Given the description of an element on the screen output the (x, y) to click on. 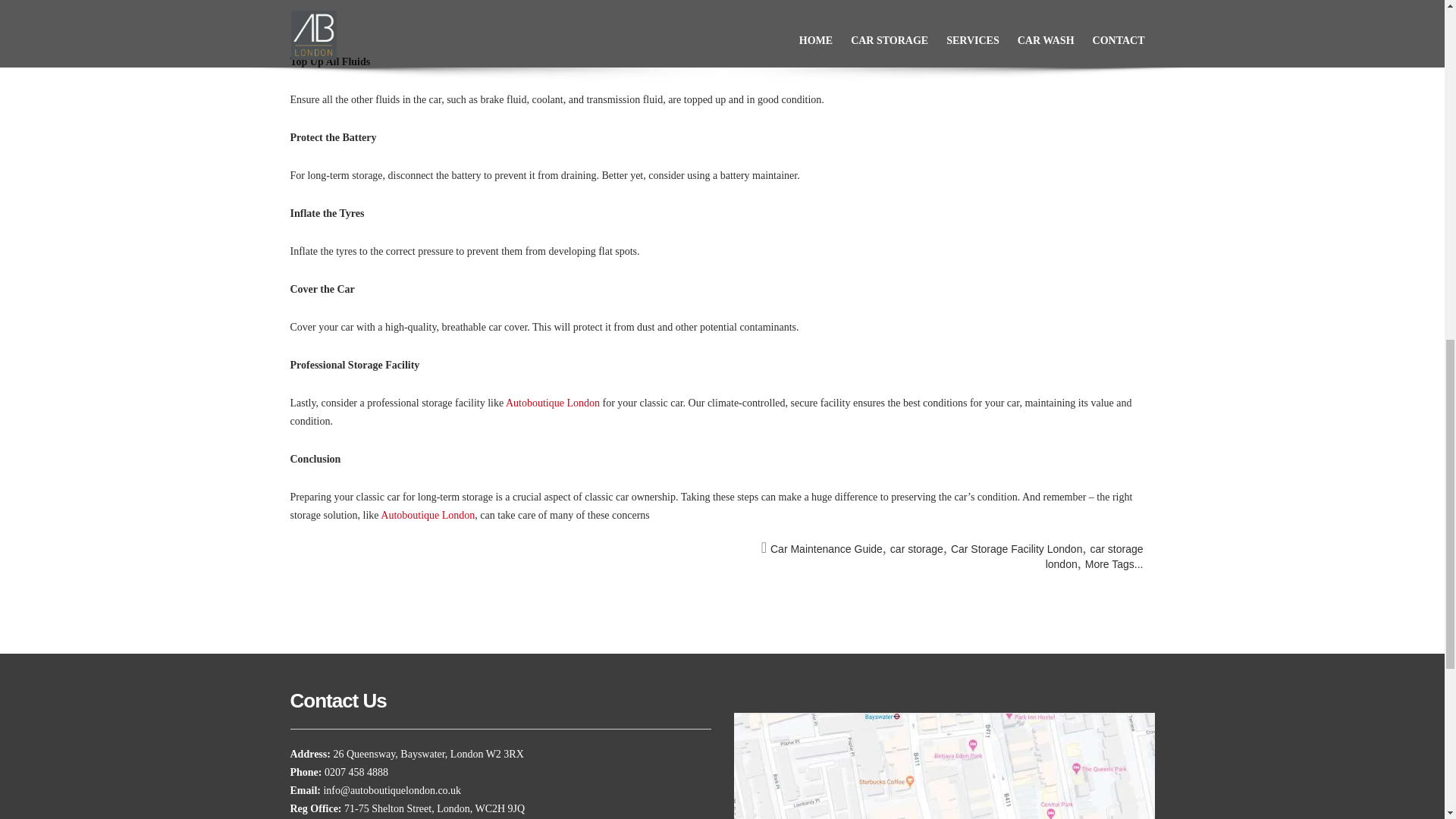
Autoboutique London (552, 402)
More Tags... (1113, 563)
Car Maintenance Guide (826, 548)
Car Maintenance Guide Tag (826, 548)
Car Storage Facility London (1016, 548)
car storage Tag (916, 548)
car storage (916, 548)
Car Storage Facility London Tag (1016, 548)
car storage london Tag (1093, 556)
Autoboutique London (427, 514)
